Given the description of an element on the screen output the (x, y) to click on. 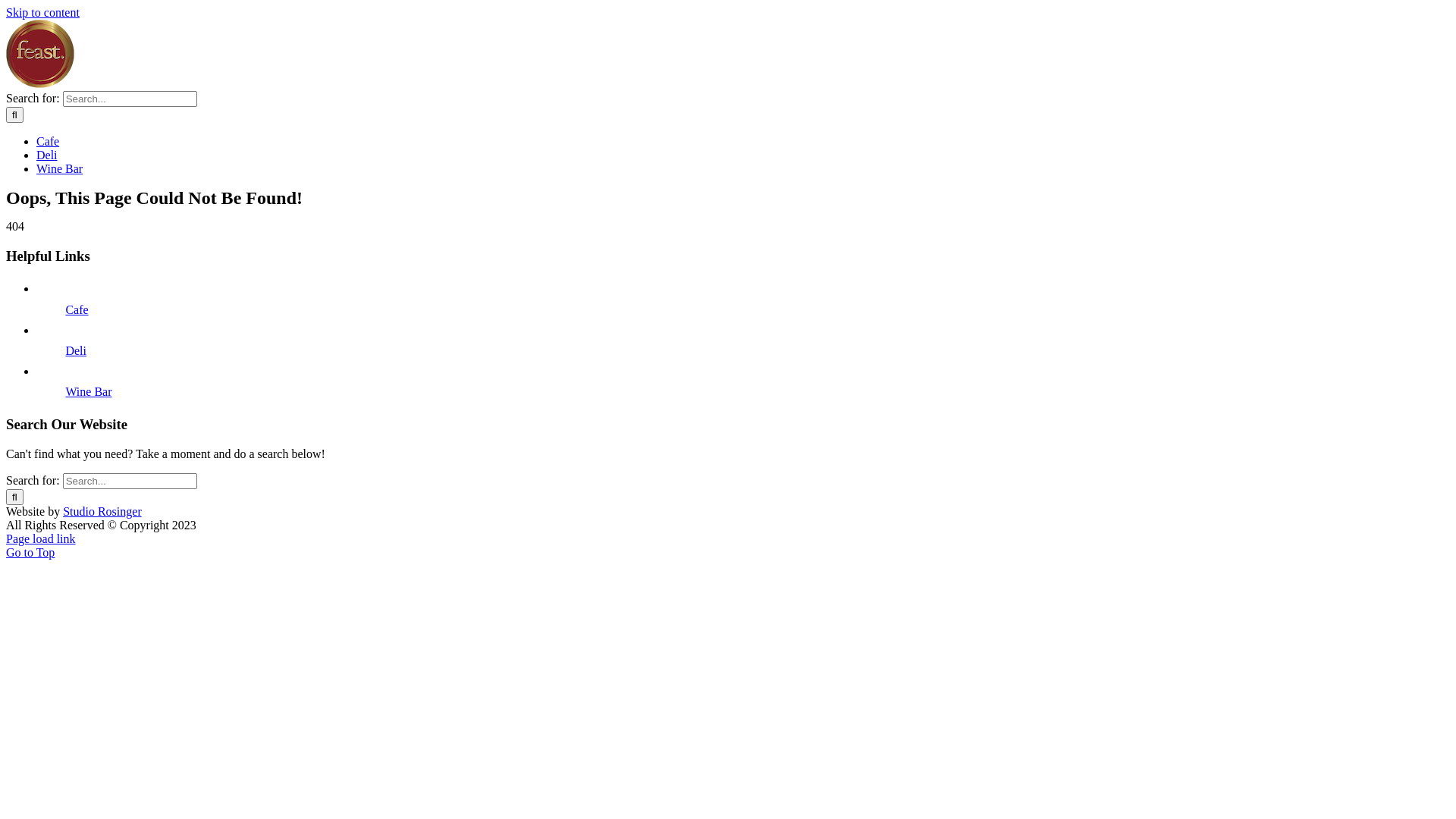
Skip to content Element type: text (42, 12)
Cafe Element type: text (47, 140)
Deli Element type: text (75, 350)
Wine Bar Element type: text (88, 391)
Deli Element type: text (46, 154)
Go to Top Element type: text (30, 552)
Cafe Element type: text (76, 309)
Wine Bar Element type: text (59, 168)
Page load link Element type: text (40, 538)
Studio Rosinger Element type: text (101, 511)
